Given the description of an element on the screen output the (x, y) to click on. 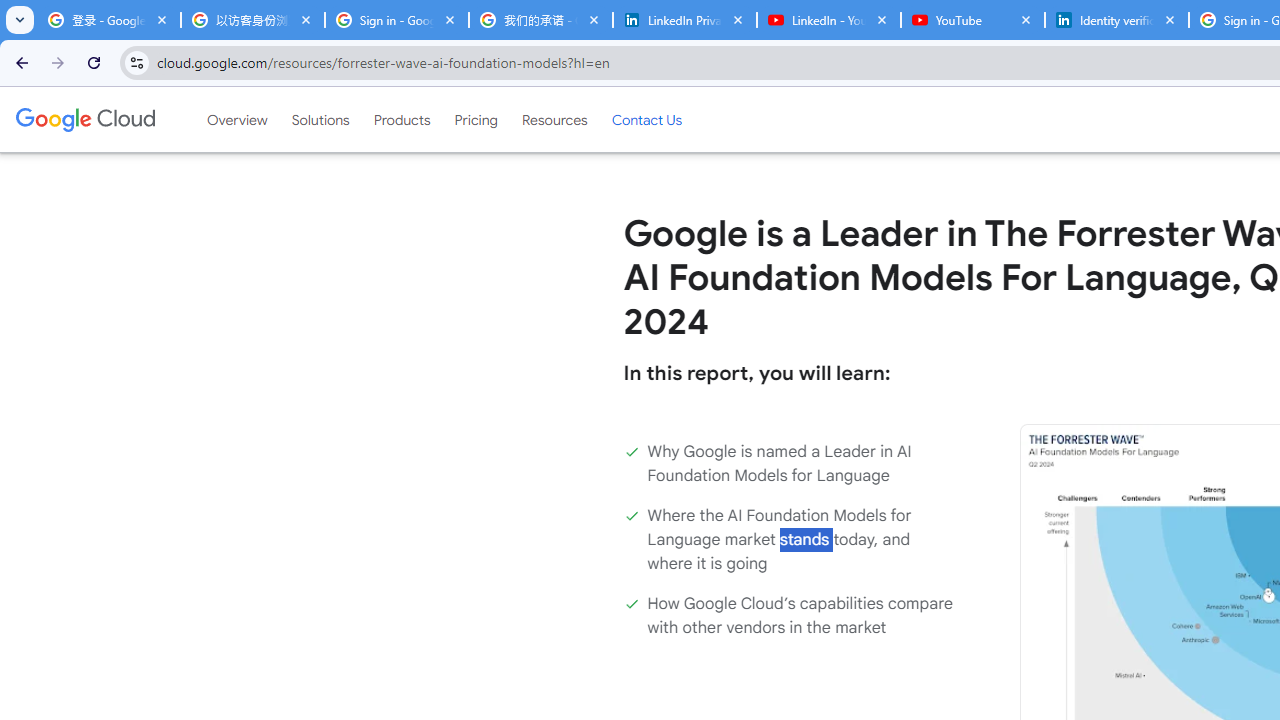
Products (401, 119)
Contact Us (646, 119)
Solutions (320, 119)
Google Cloud (84, 119)
